Given the description of an element on the screen output the (x, y) to click on. 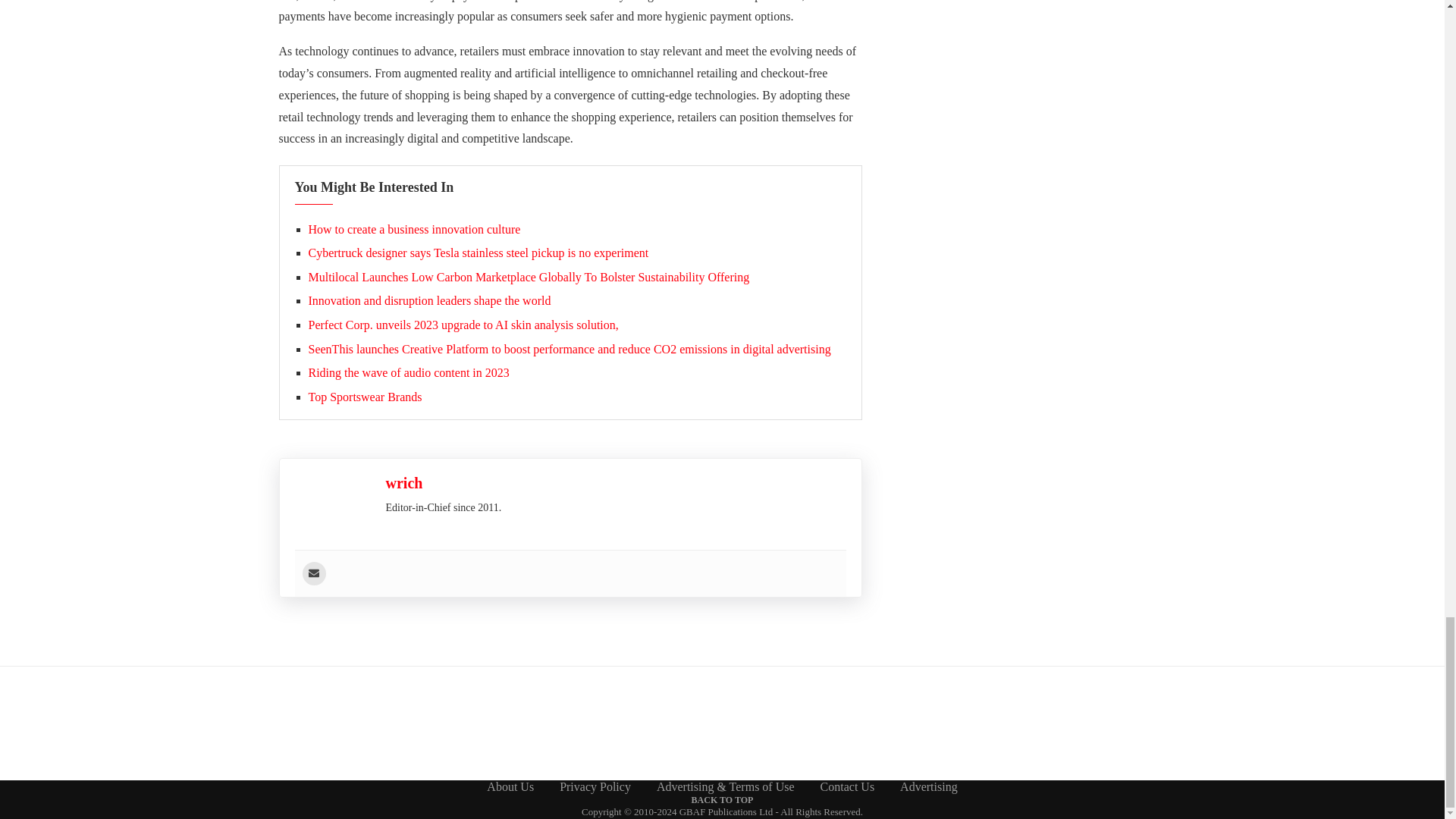
BACK TO TOP (722, 798)
About Us (510, 786)
Advertising (928, 786)
Riding the wave of audio content in 2023 (407, 372)
Top Sportswear Brands (364, 396)
Privacy Policy (594, 786)
wrich (403, 483)
Innovation and disruption leaders shape the world (428, 300)
User email (312, 573)
How to create a business innovation culture (413, 228)
Contact Us (848, 786)
